Given the description of an element on the screen output the (x, y) to click on. 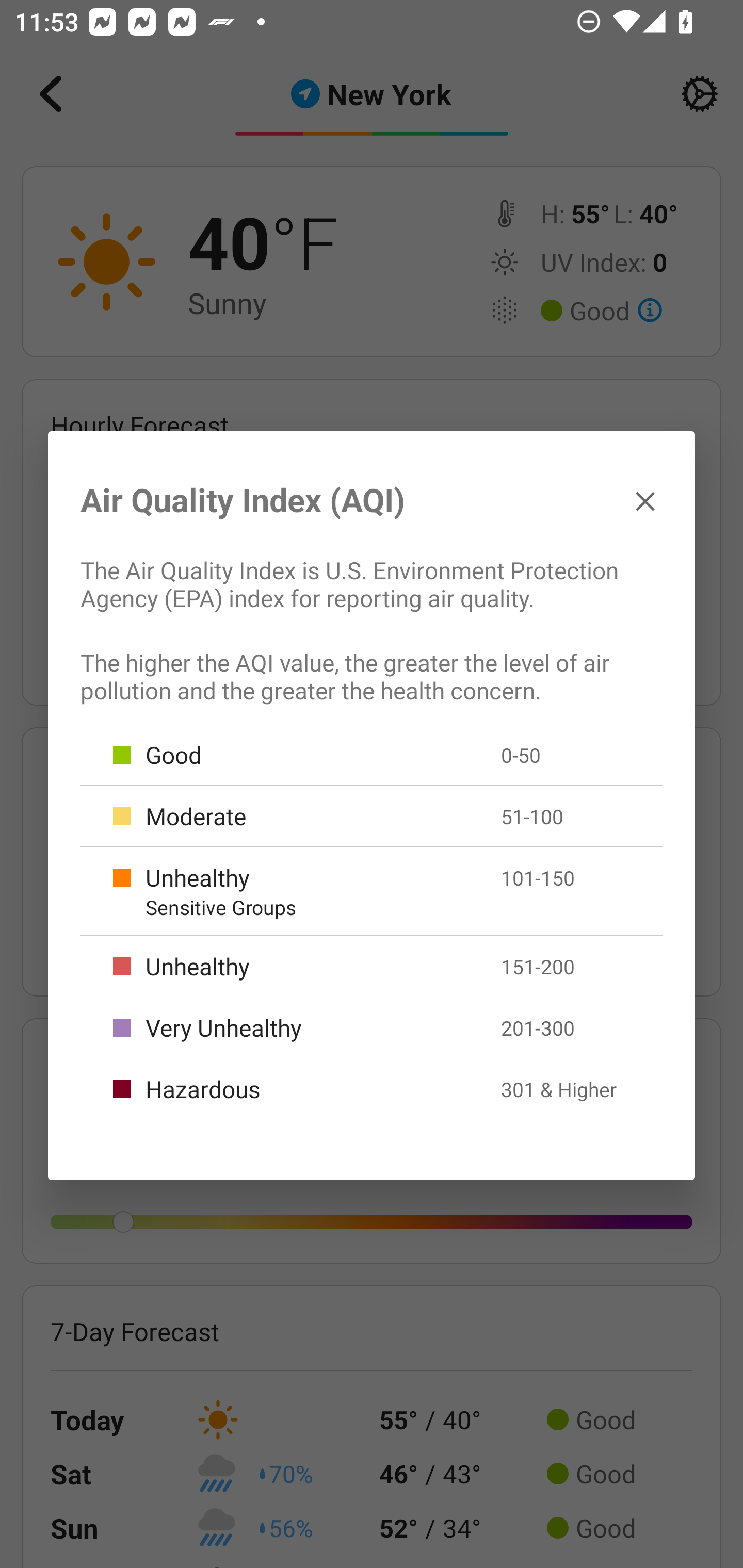
✕ (644, 499)
